Given the description of an element on the screen output the (x, y) to click on. 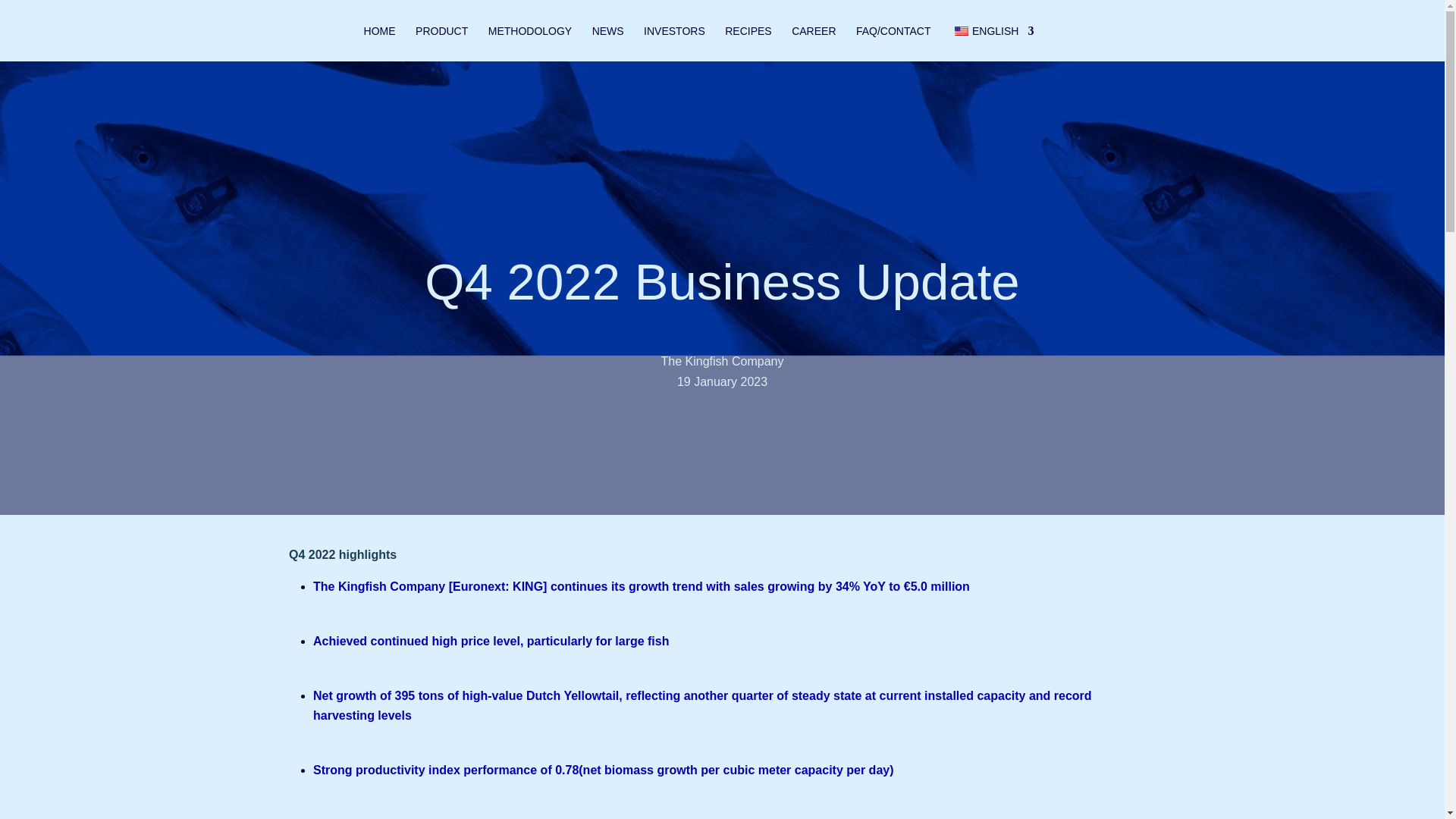
English (961, 31)
RECIPES (748, 43)
INVESTORS (673, 43)
HOME (380, 43)
METHODOLOGY (529, 43)
NEWS (608, 43)
ENGLISH (991, 43)
PRODUCT (440, 43)
CAREER (813, 43)
